Given the description of an element on the screen output the (x, y) to click on. 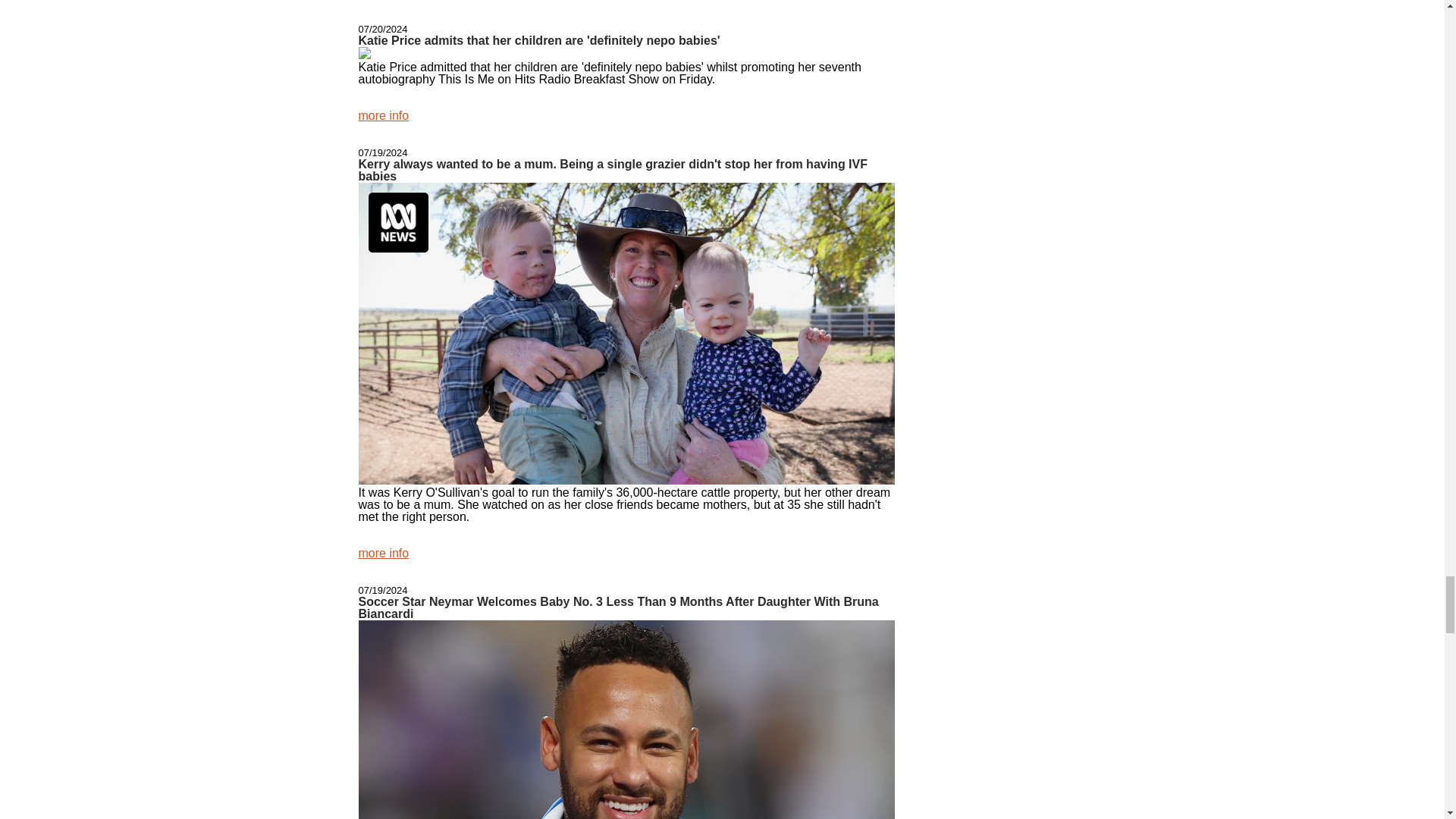
more info (383, 553)
more info (383, 115)
